Given the description of an element on the screen output the (x, y) to click on. 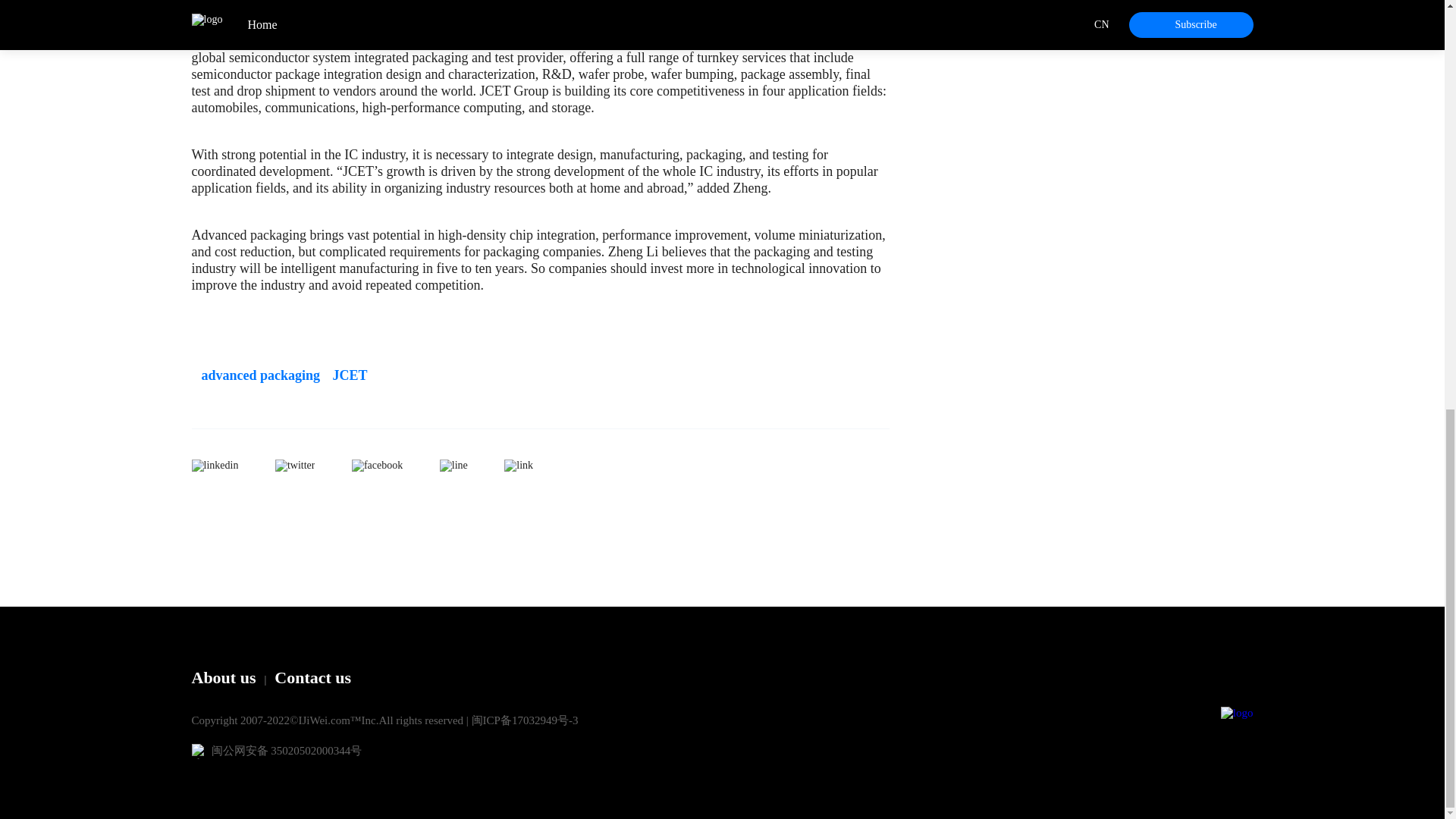
Contact us (312, 677)
About us (223, 677)
advanced packaging (255, 375)
JCET (345, 375)
